Given the description of an element on the screen output the (x, y) to click on. 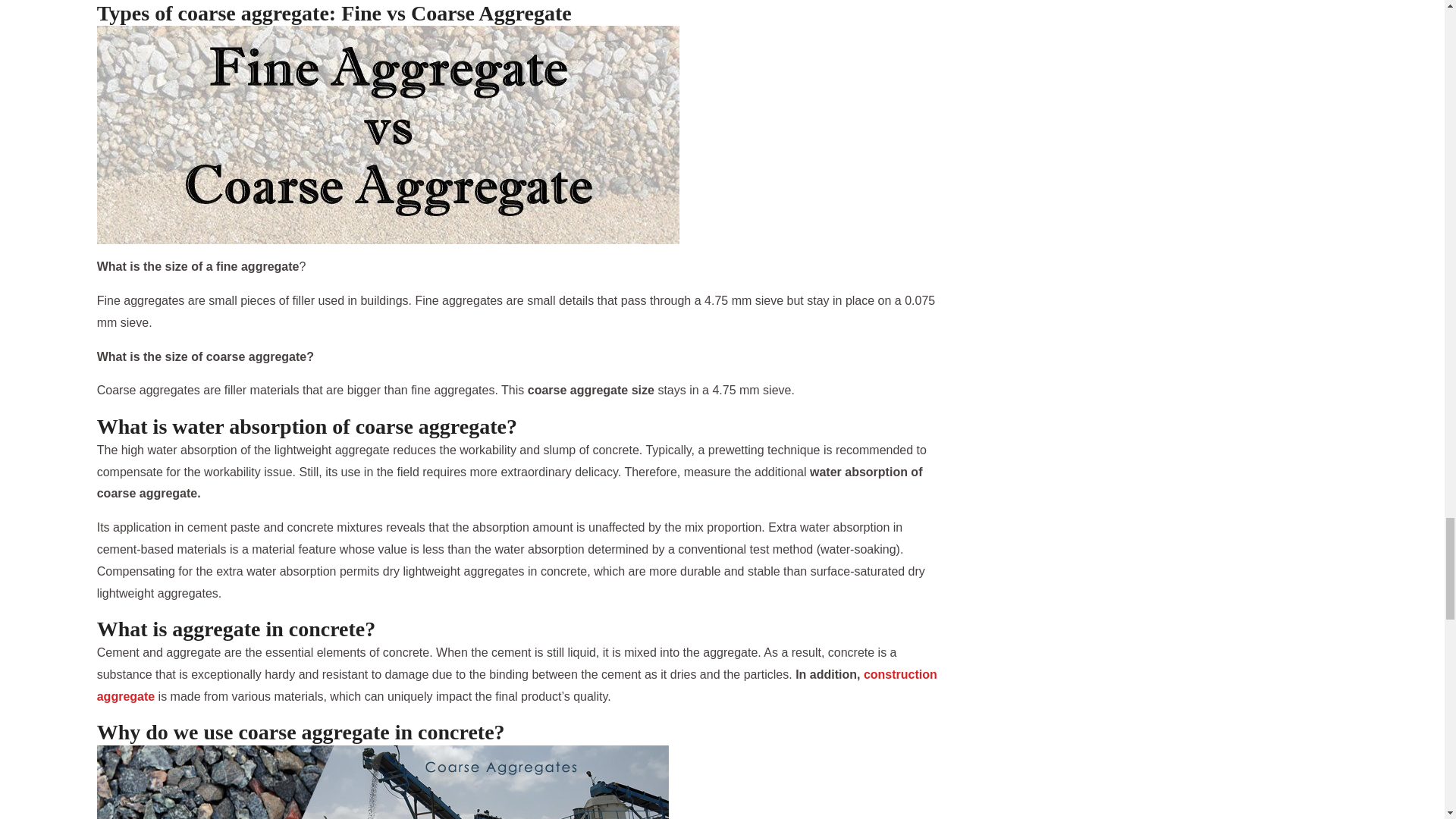
construction aggregate (517, 685)
